Given the description of an element on the screen output the (x, y) to click on. 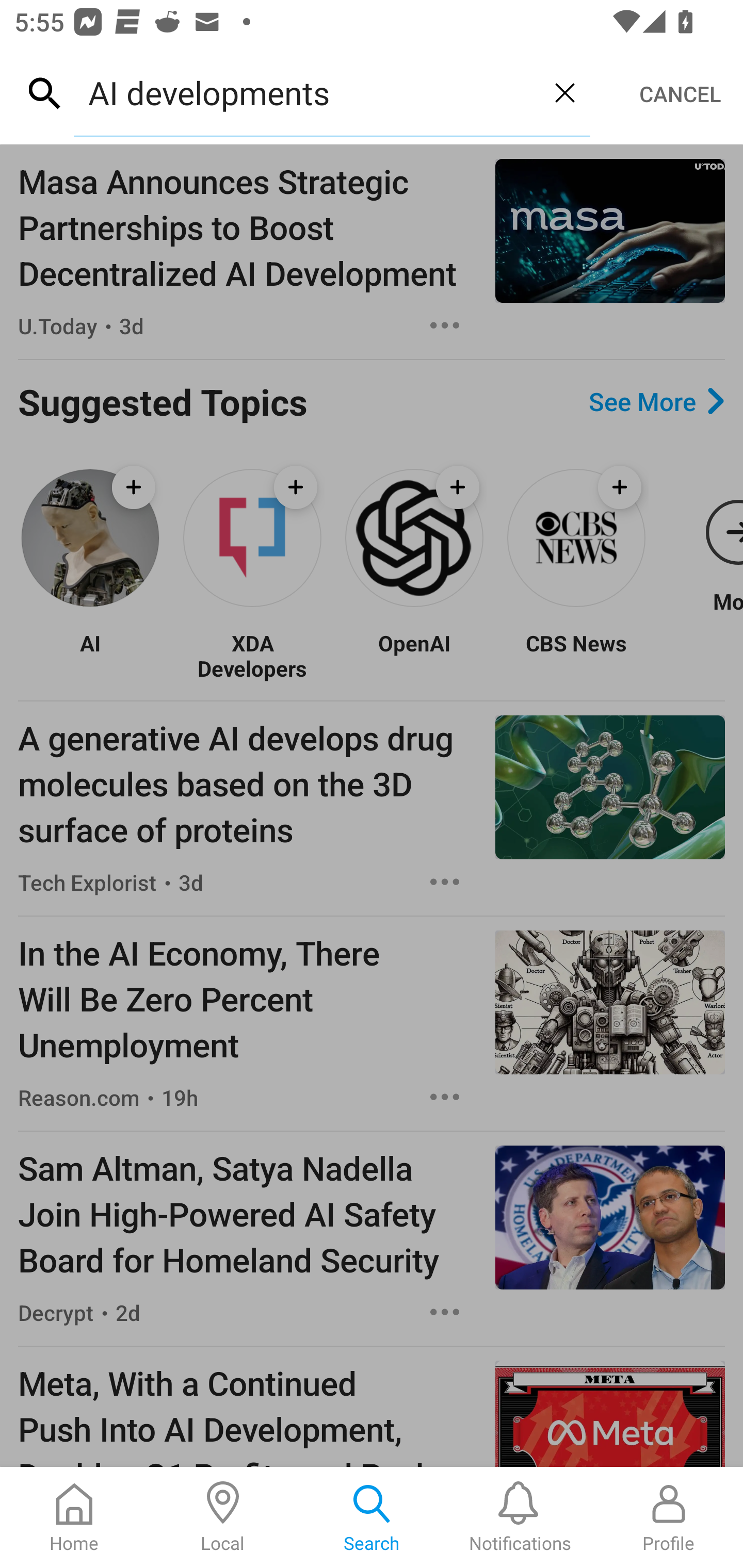
Clear query (564, 92)
CANCEL (680, 93)
AI developments (306, 92)
Options (444, 325)
See More (656, 401)
AI (89, 655)
XDA Developers (251, 655)
OpenAI (413, 655)
CBS News (575, 655)
Options (444, 881)
Options (444, 1096)
Options (444, 1312)
Home (74, 1517)
Local (222, 1517)
Notifications (519, 1517)
Profile (668, 1517)
